Given the description of an element on the screen output the (x, y) to click on. 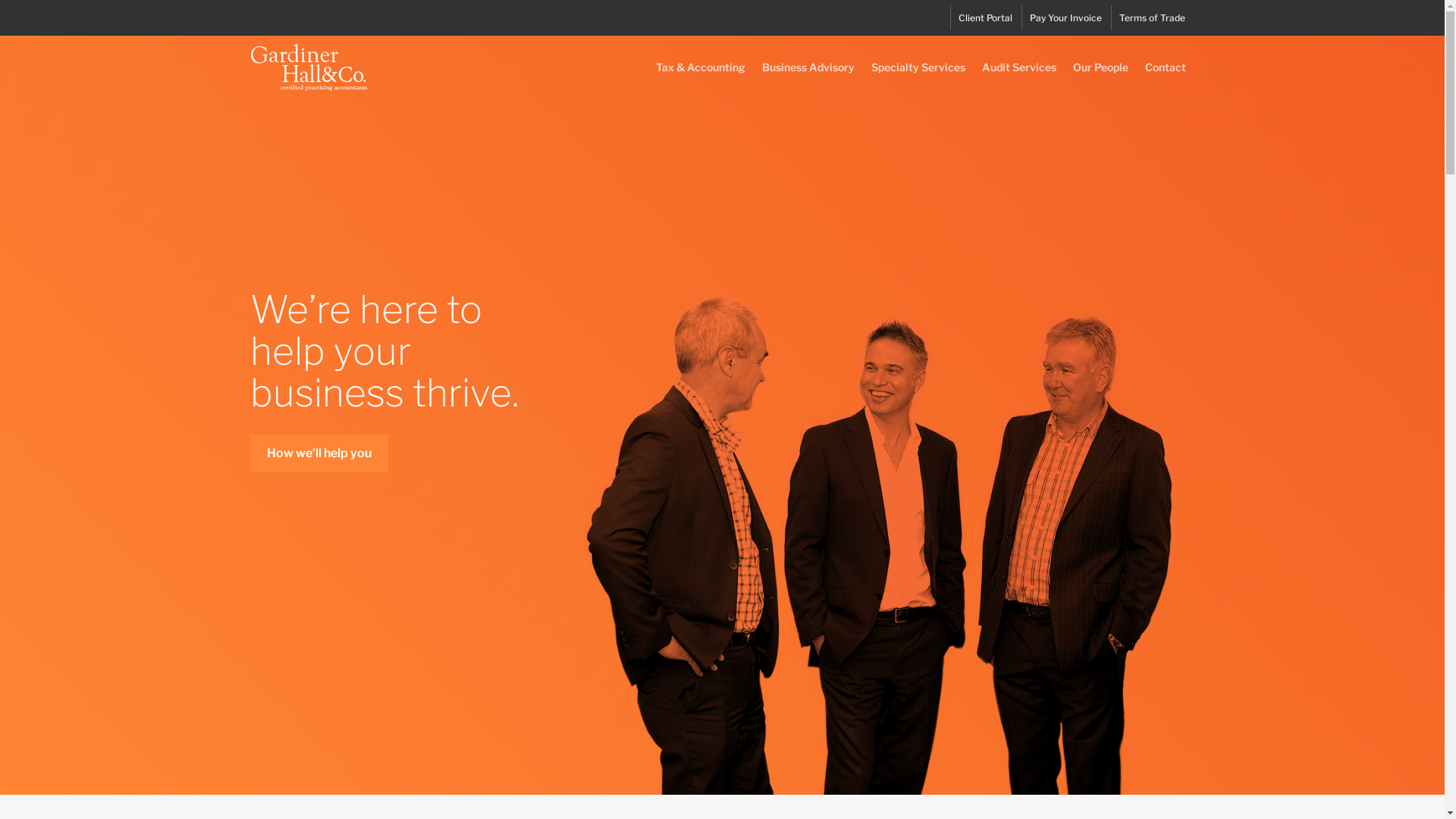
Client Portal Element type: text (984, 17)
Contact Element type: text (1165, 77)
Tax & Accounting Element type: text (700, 77)
How we'll help you Element type: text (319, 453)
Our People Element type: text (1100, 77)
Business Advisory Element type: text (808, 77)
Audit Services Element type: text (1018, 77)
Pay Your Invoice Element type: text (1065, 17)
Specialty Services Element type: text (917, 77)
Terms of Trade Element type: text (1151, 17)
